Given the description of an element on the screen output the (x, y) to click on. 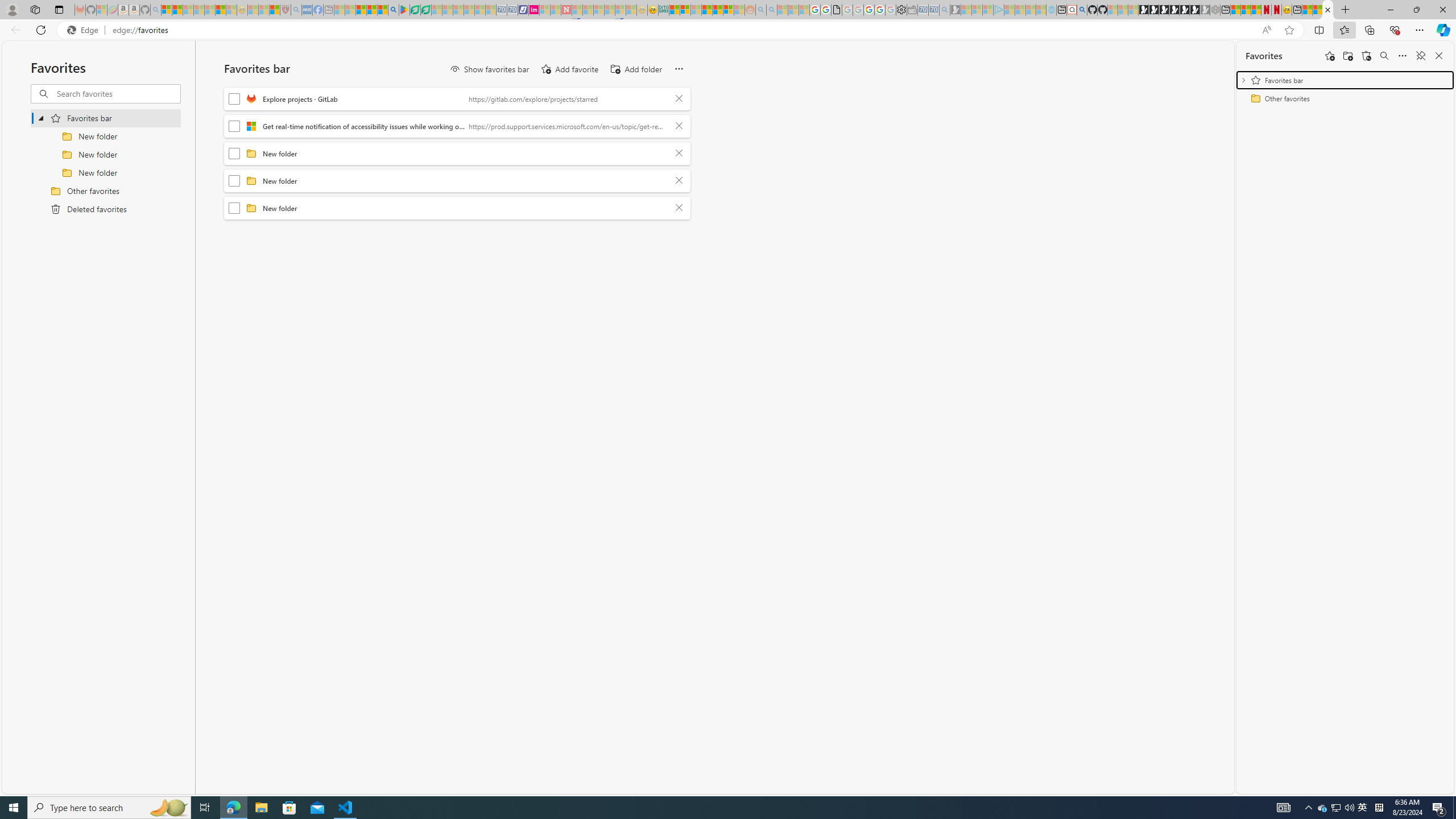
Add this page to favorites (1330, 55)
FolderNew folder (457, 207)
